Given the description of an element on the screen output the (x, y) to click on. 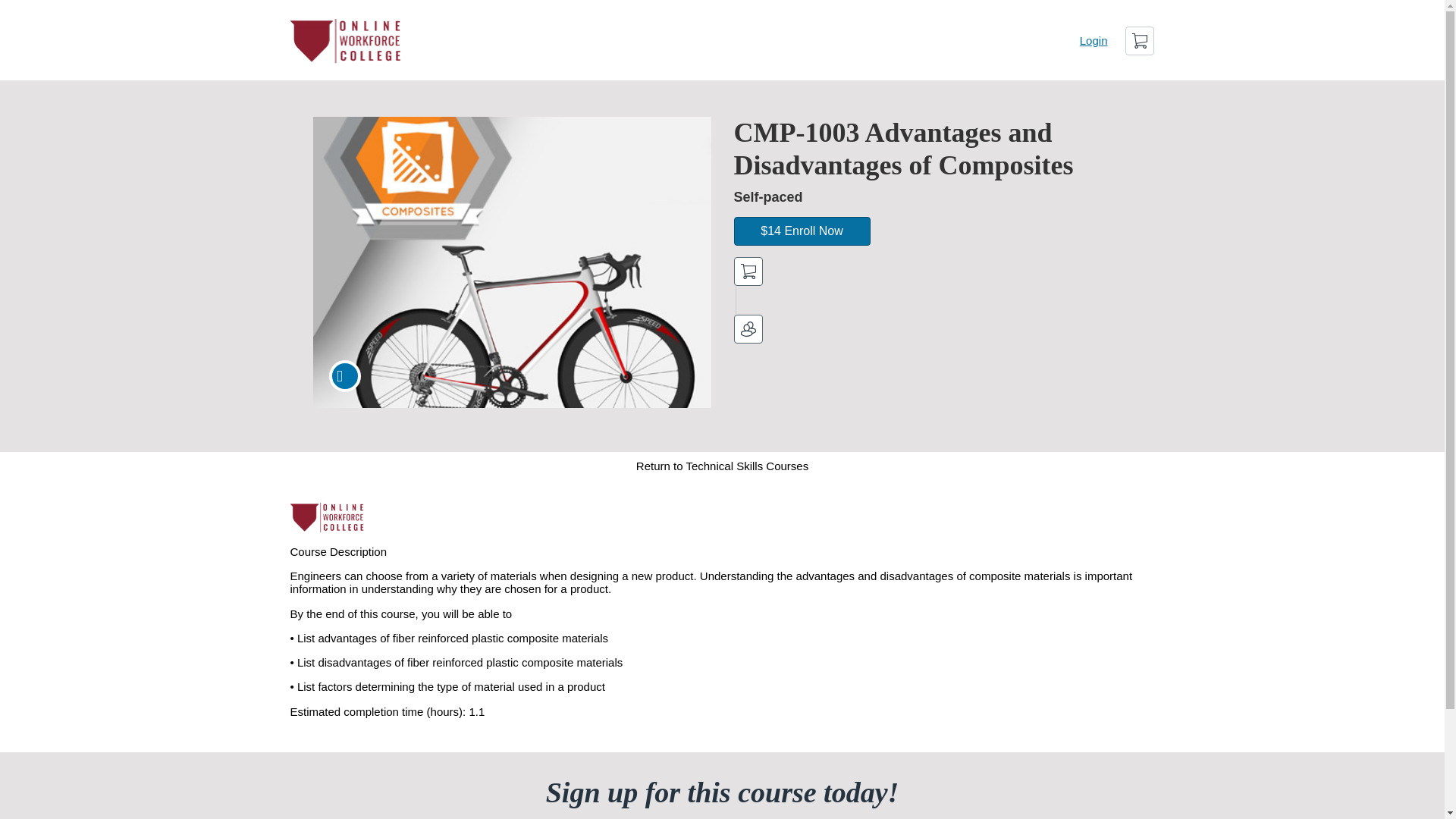
Course (345, 376)
Login (1094, 40)
Log in to Mississippi Online Workforce College (1094, 40)
Cart (1139, 40)
Mississippi Online Workforce College (327, 517)
Bulk Purchase (747, 328)
Add to Cart (747, 271)
Return to Technical Skills Courses (722, 465)
